Given the description of an element on the screen output the (x, y) to click on. 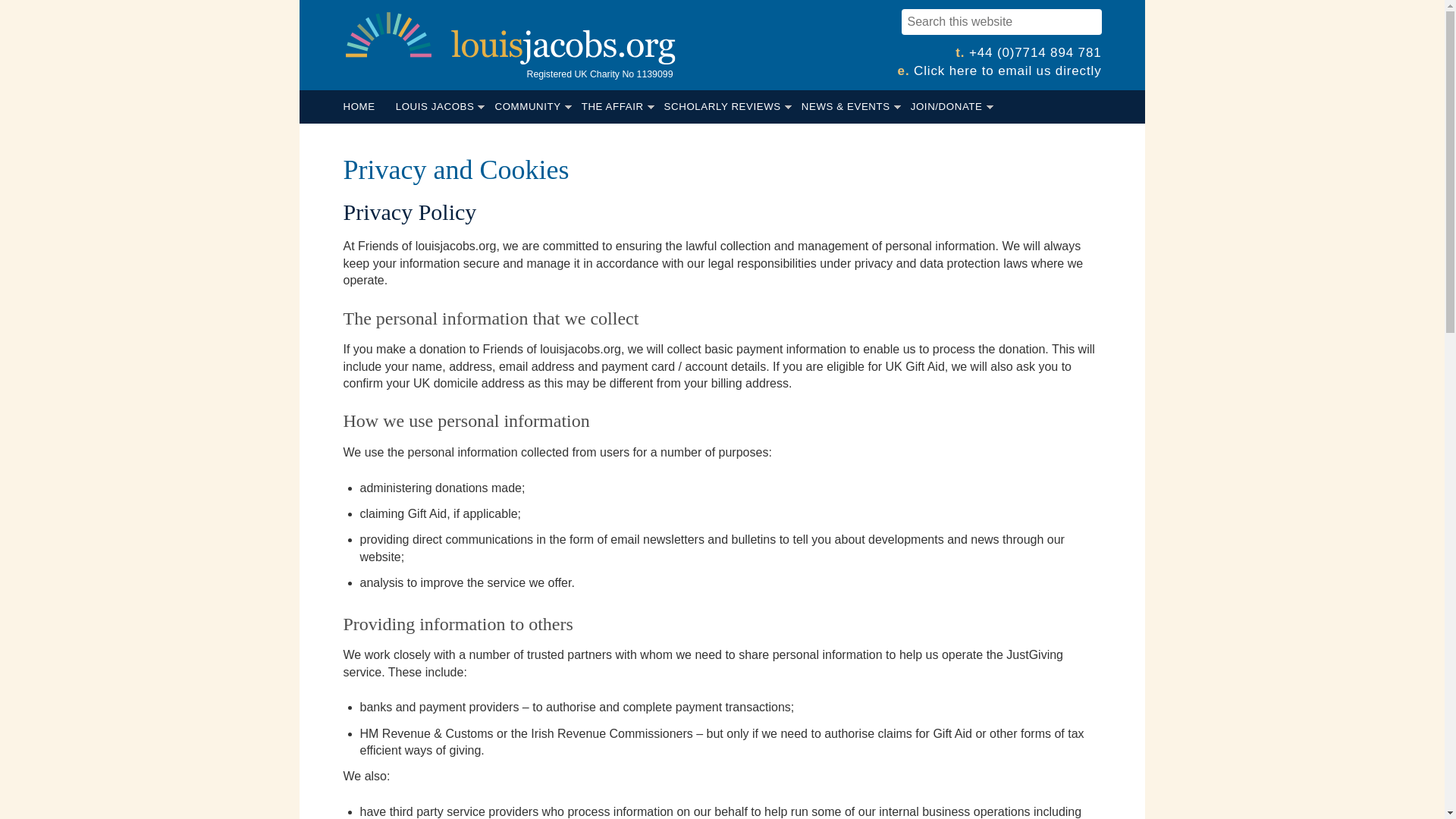
SCHOLARLY REVIEWS (727, 106)
Friends of Louis Jacobs (509, 30)
HOME (363, 106)
LOUIS JACOBS (440, 106)
COMMUNITY (532, 106)
THE AFFAIR (616, 106)
Click here to email us directly (1007, 70)
